Given the description of an element on the screen output the (x, y) to click on. 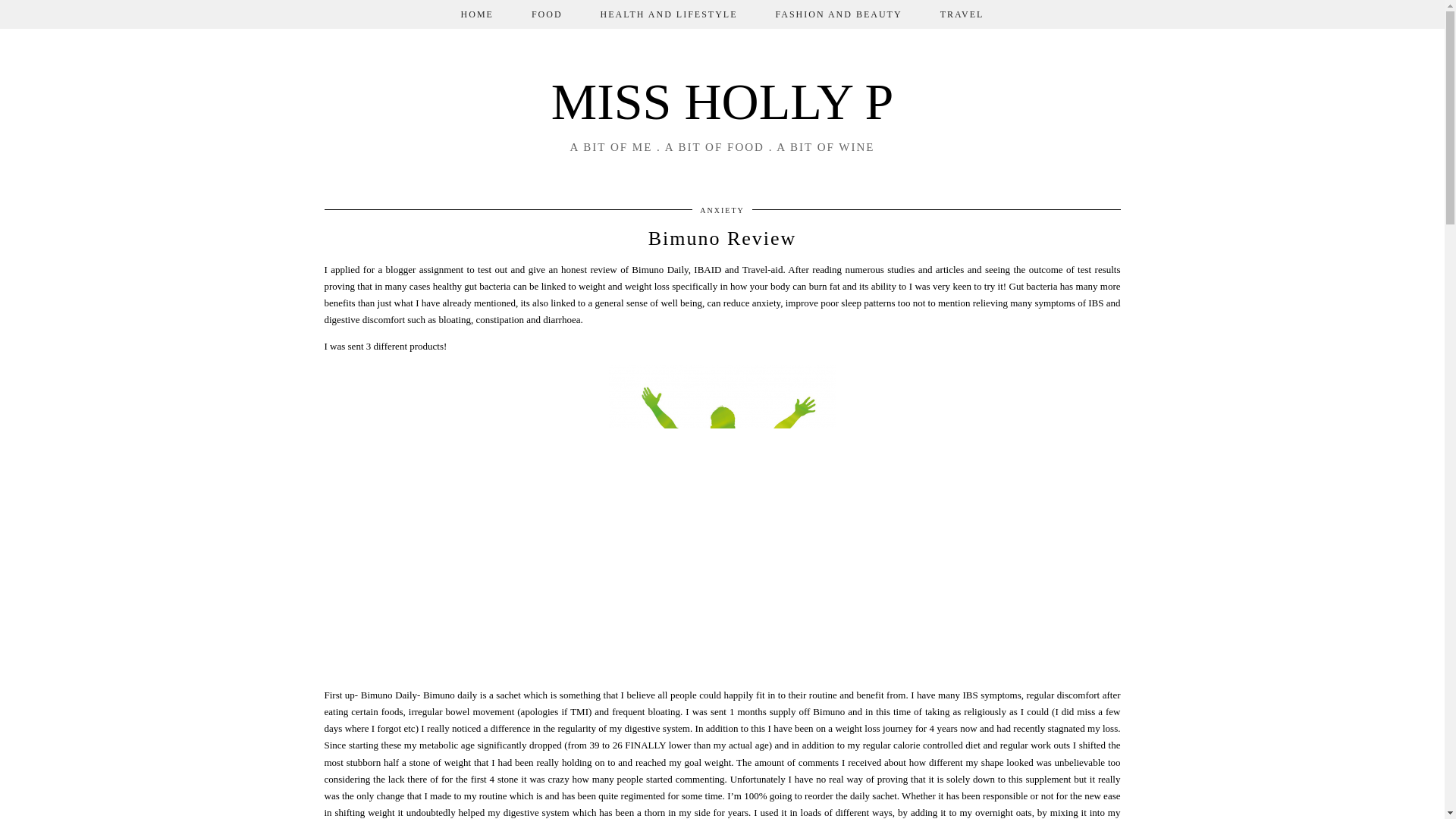
HEALTH AND LIFESTYLE (668, 14)
ANXIETY (722, 210)
TRAVEL (962, 14)
MISS HOLLY P  (722, 101)
FASHION AND BEAUTY (839, 14)
MISS HOLLY P (722, 101)
FOOD (546, 14)
HOME (477, 14)
